Given the description of an element on the screen output the (x, y) to click on. 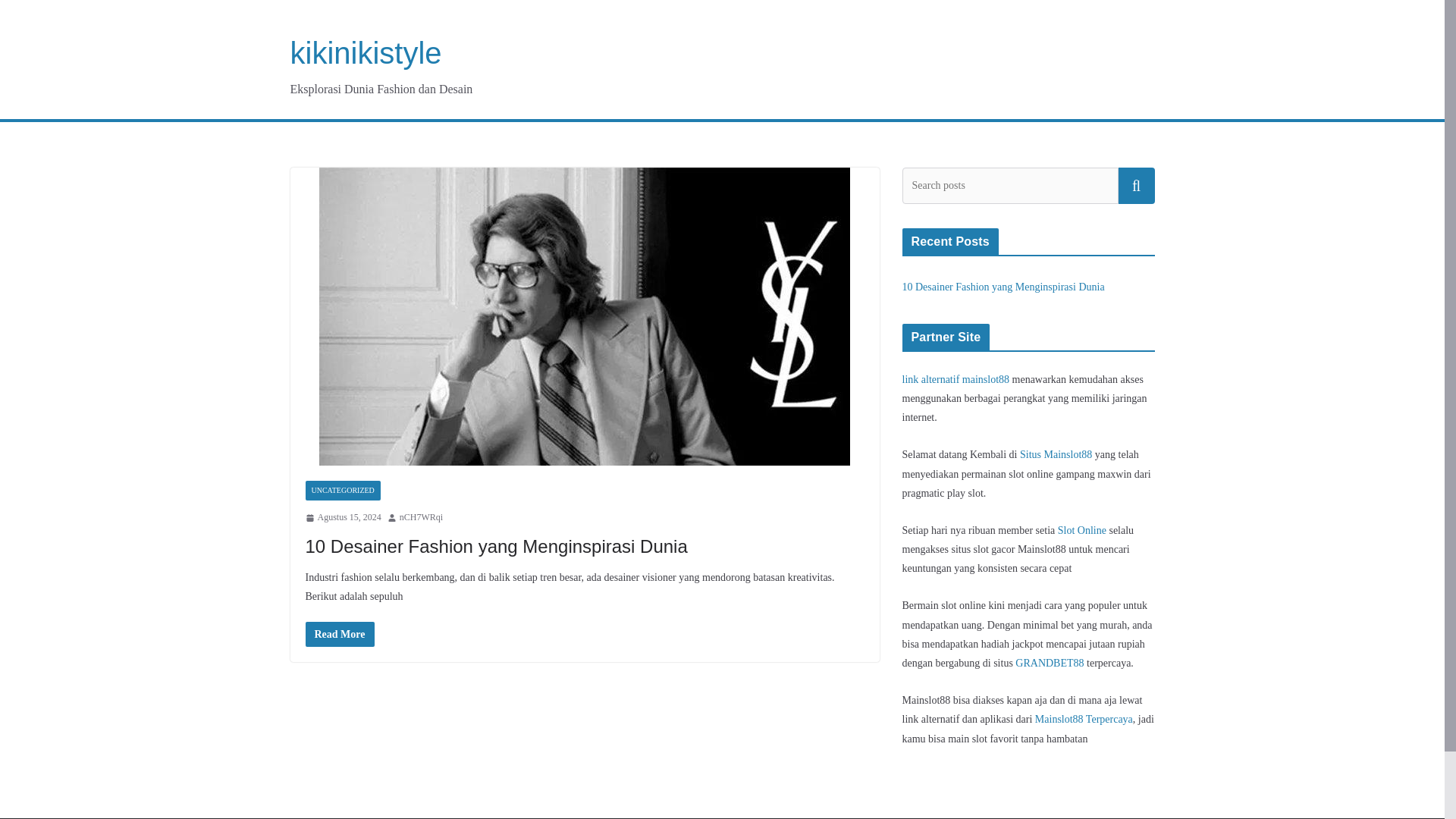
10 Desainer Fashion yang Menginspirasi Dunia (339, 634)
10 Desainer Fashion yang Menginspirasi Dunia (495, 546)
GRANDBET88 (1048, 663)
Read More (339, 634)
nCH7WRqi (420, 517)
Agustus 15, 2024 (342, 517)
UNCATEGORIZED (342, 490)
3:53 pm (342, 517)
Mainslot88 Terpercaya (1083, 718)
